Given the description of an element on the screen output the (x, y) to click on. 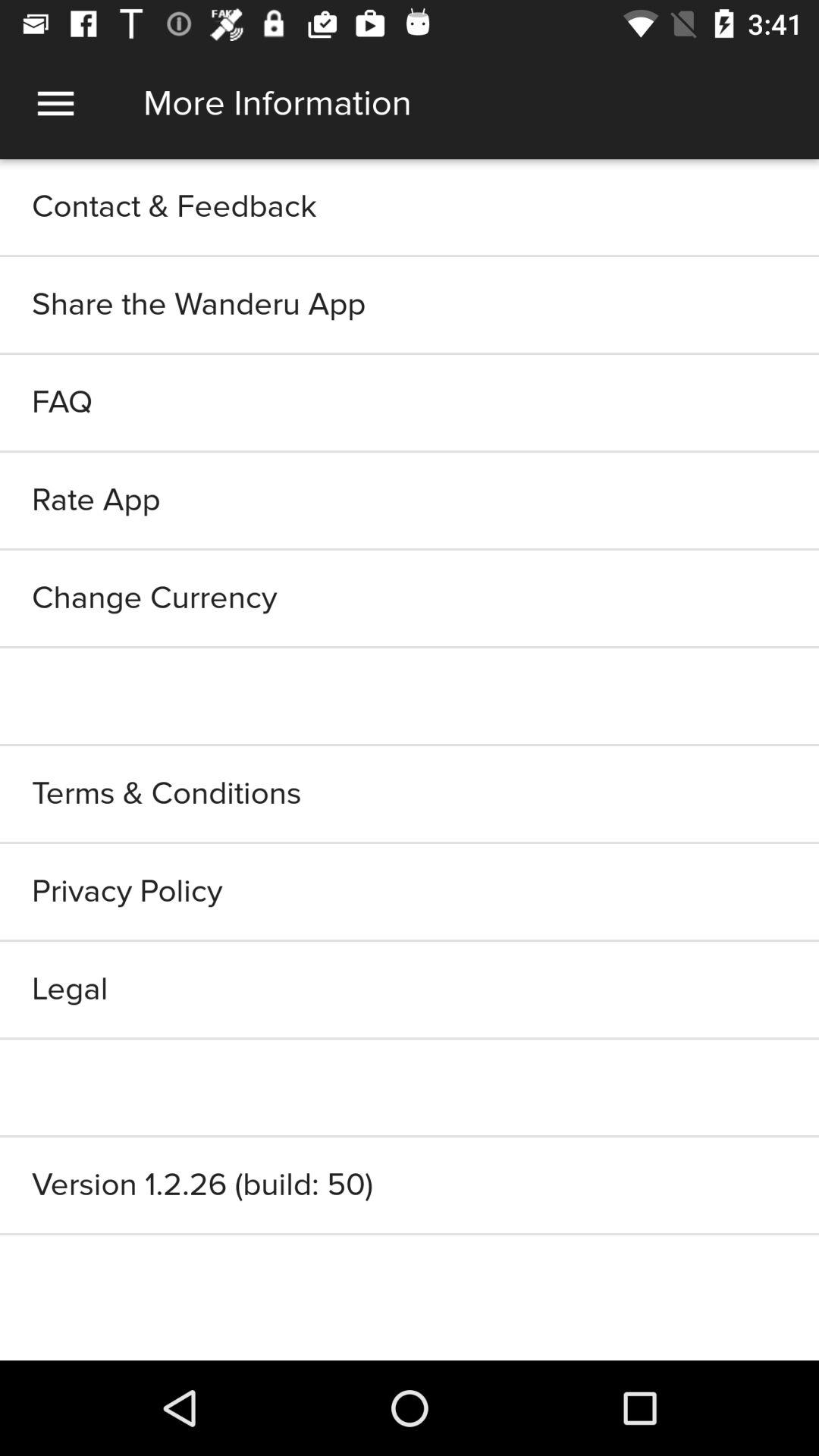
click icon below share the wanderu icon (409, 402)
